Given the description of an element on the screen output the (x, y) to click on. 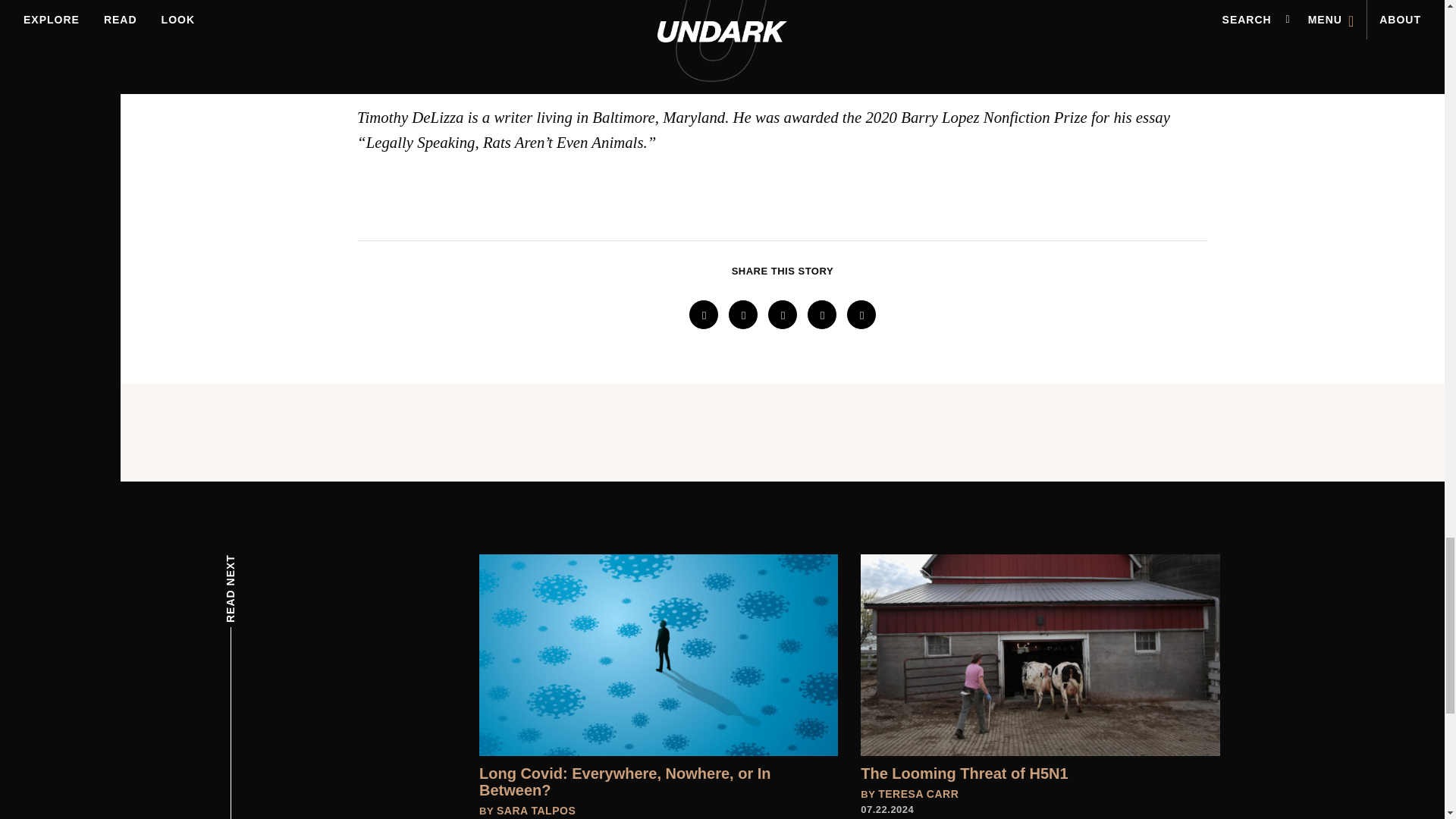
Click to share on Reddit (782, 314)
Click to share on Pocket (860, 314)
Click to share on Facebook (703, 314)
Click to share on FlipBoard (821, 314)
Click to share on Twitter (743, 314)
